Given the description of an element on the screen output the (x, y) to click on. 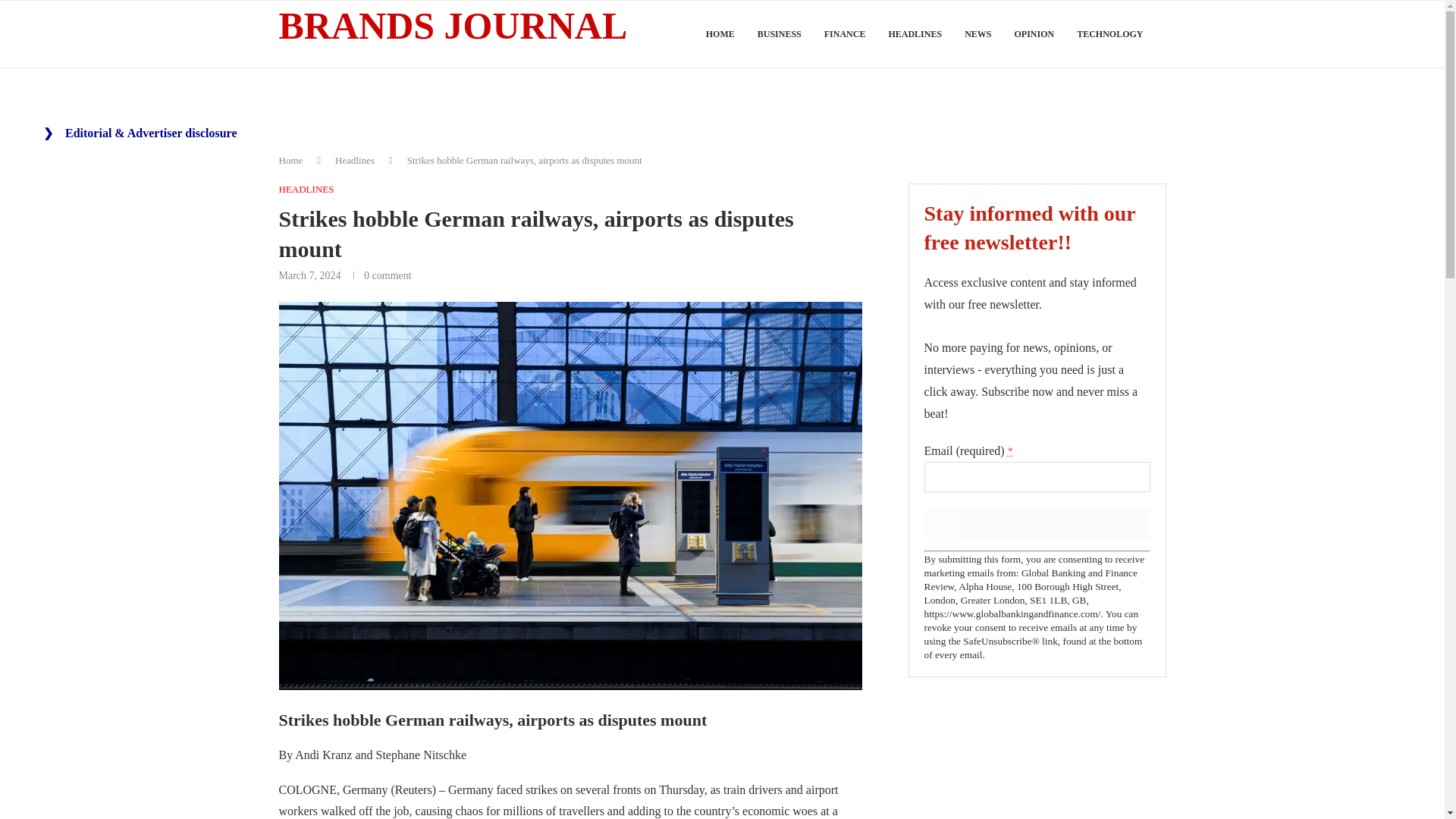
Headlines (354, 160)
Home (290, 160)
Sign up! (1036, 522)
BRANDS JOURNAL (453, 26)
Sign up! (1036, 522)
TECHNOLOGY (1109, 33)
HEADLINES (306, 189)
